Given the description of an element on the screen output the (x, y) to click on. 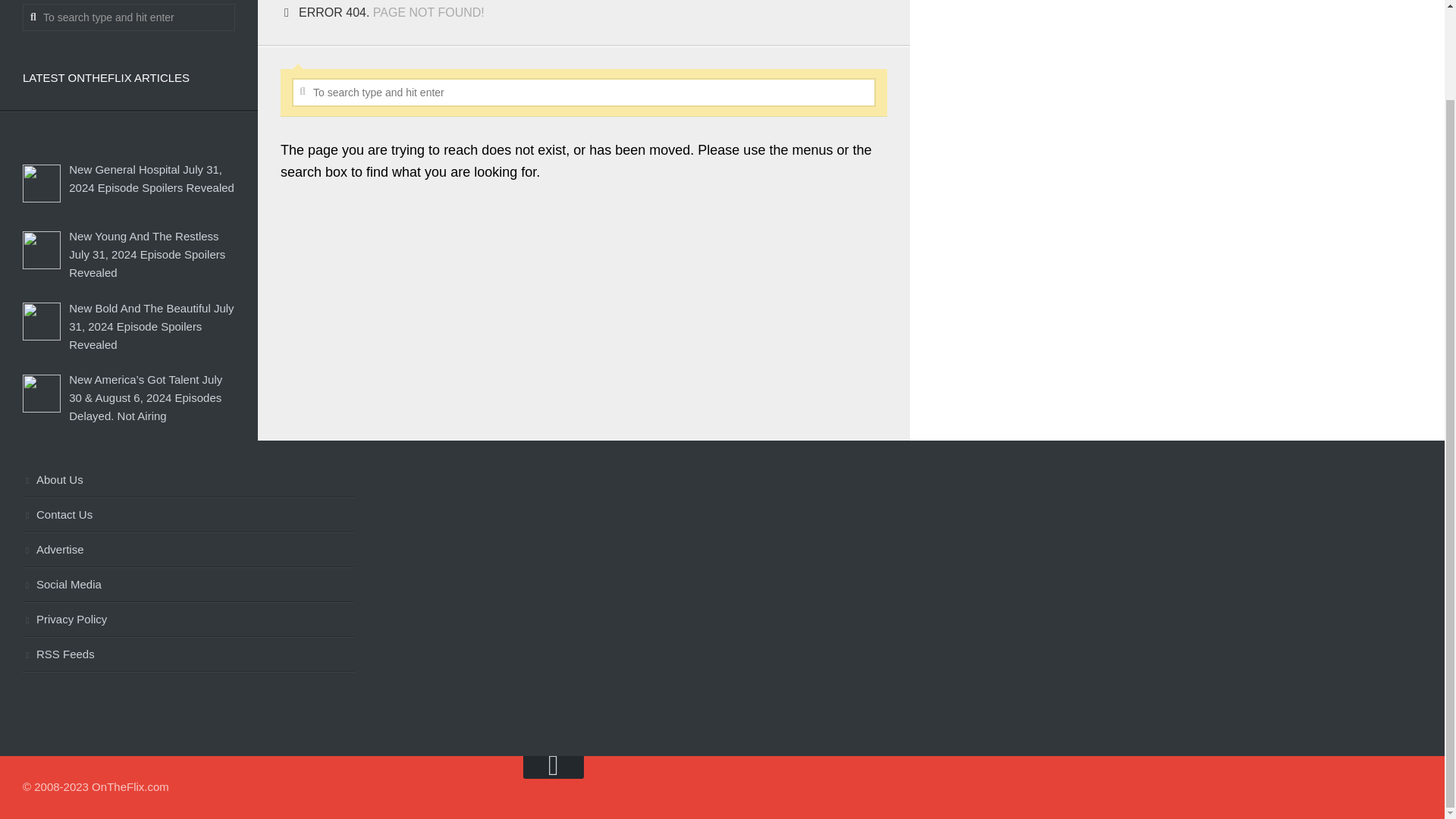
Contact Us (188, 515)
About Us (188, 480)
To search type and hit enter (128, 17)
Privacy Policy (188, 620)
To search type and hit enter (584, 92)
Social Media (188, 585)
To search type and hit enter (128, 17)
New General Hospital July 31, 2024 Episode Spoilers Revealed (151, 178)
To search type and hit enter (584, 92)
RSS Feeds (188, 655)
Advertise (188, 550)
